Given the description of an element on the screen output the (x, y) to click on. 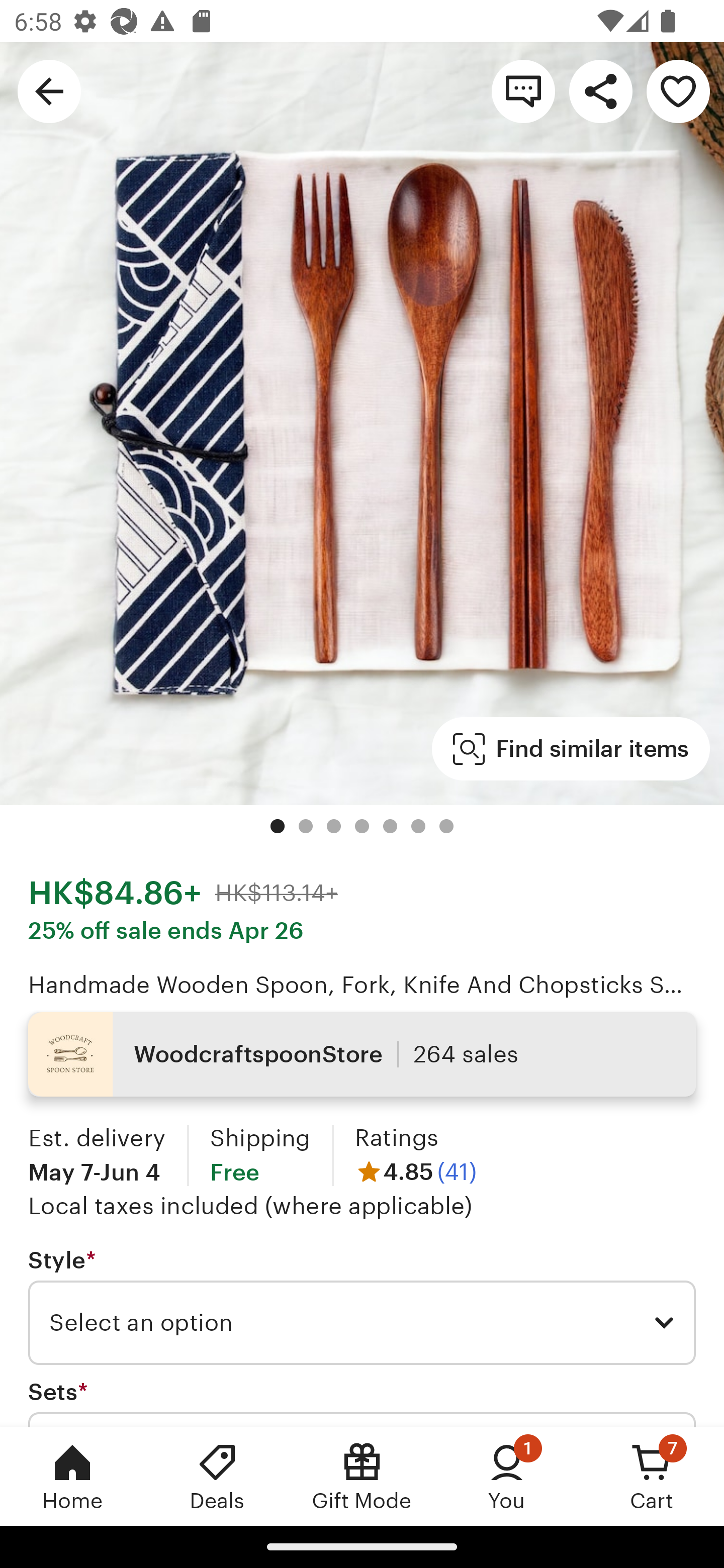
Navigate up (49, 90)
Contact shop (523, 90)
Share (600, 90)
Find similar items (571, 748)
WoodcraftspoonStore 264 sales (361, 1054)
Ratings (396, 1137)
4.85 (41) (415, 1171)
Style * Required Select an option (361, 1306)
Select an option (361, 1323)
Sets * Required Select an option (361, 1402)
Deals (216, 1475)
Gift Mode (361, 1475)
You, 1 new notification You (506, 1475)
Cart, 7 new notifications Cart (651, 1475)
